Given the description of an element on the screen output the (x, y) to click on. 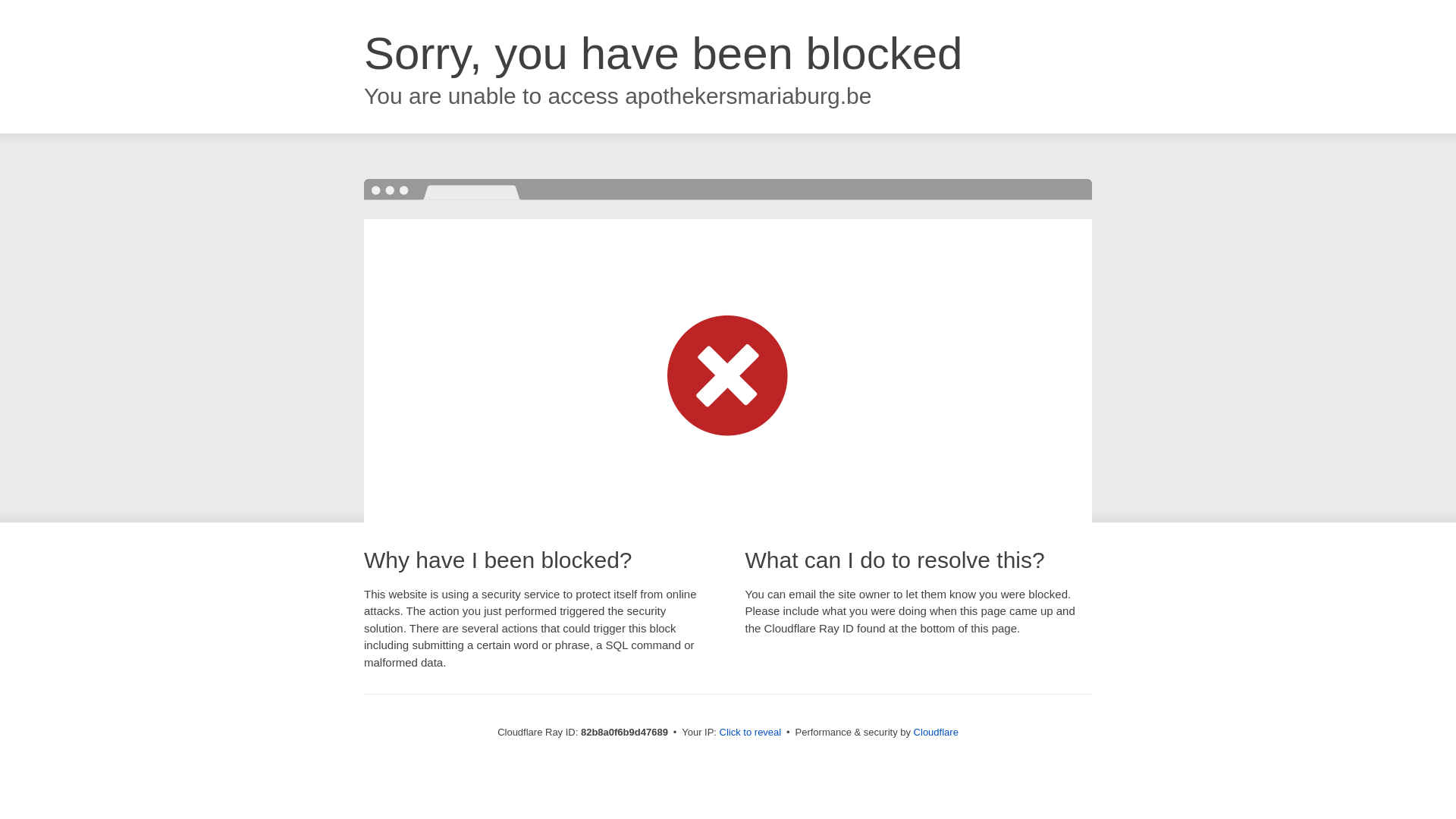
Click to reveal Element type: text (750, 732)
Cloudflare Element type: text (935, 731)
